Given the description of an element on the screen output the (x, y) to click on. 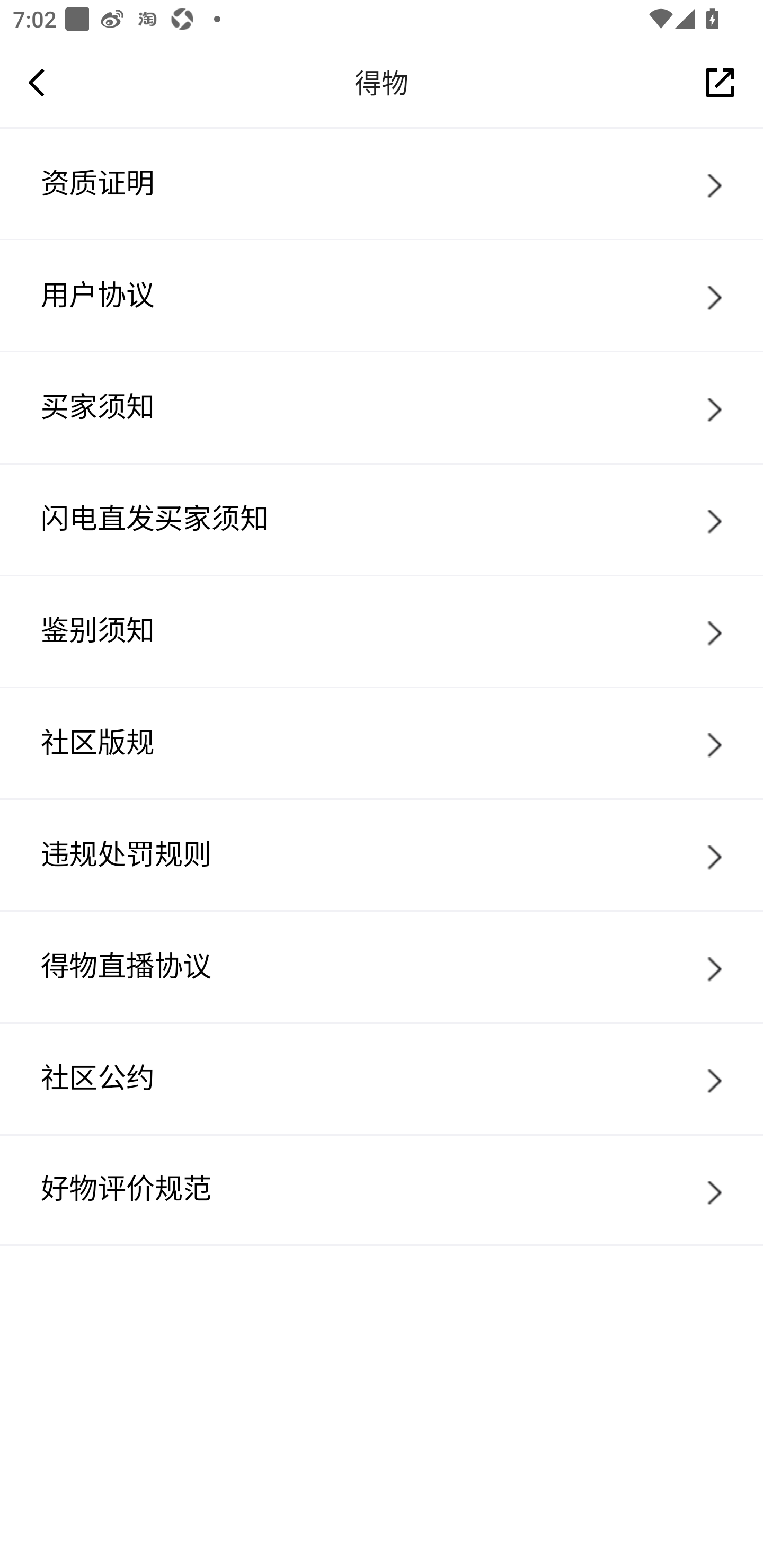
Navigate up (36, 82)
资质证明 arrow (381, 183)
用户协议 arrow (381, 294)
买家须知 arrow (381, 406)
闪电直发买家须知 arrow (381, 518)
鉴别须知 arrow (381, 629)
社区版规 arrow (381, 742)
违规处罚规则 arrow (381, 854)
得物直播协议 arrow (381, 966)
社区公约 arrow (381, 1078)
好物评价规范 arrow (381, 1189)
